Given the description of an element on the screen output the (x, y) to click on. 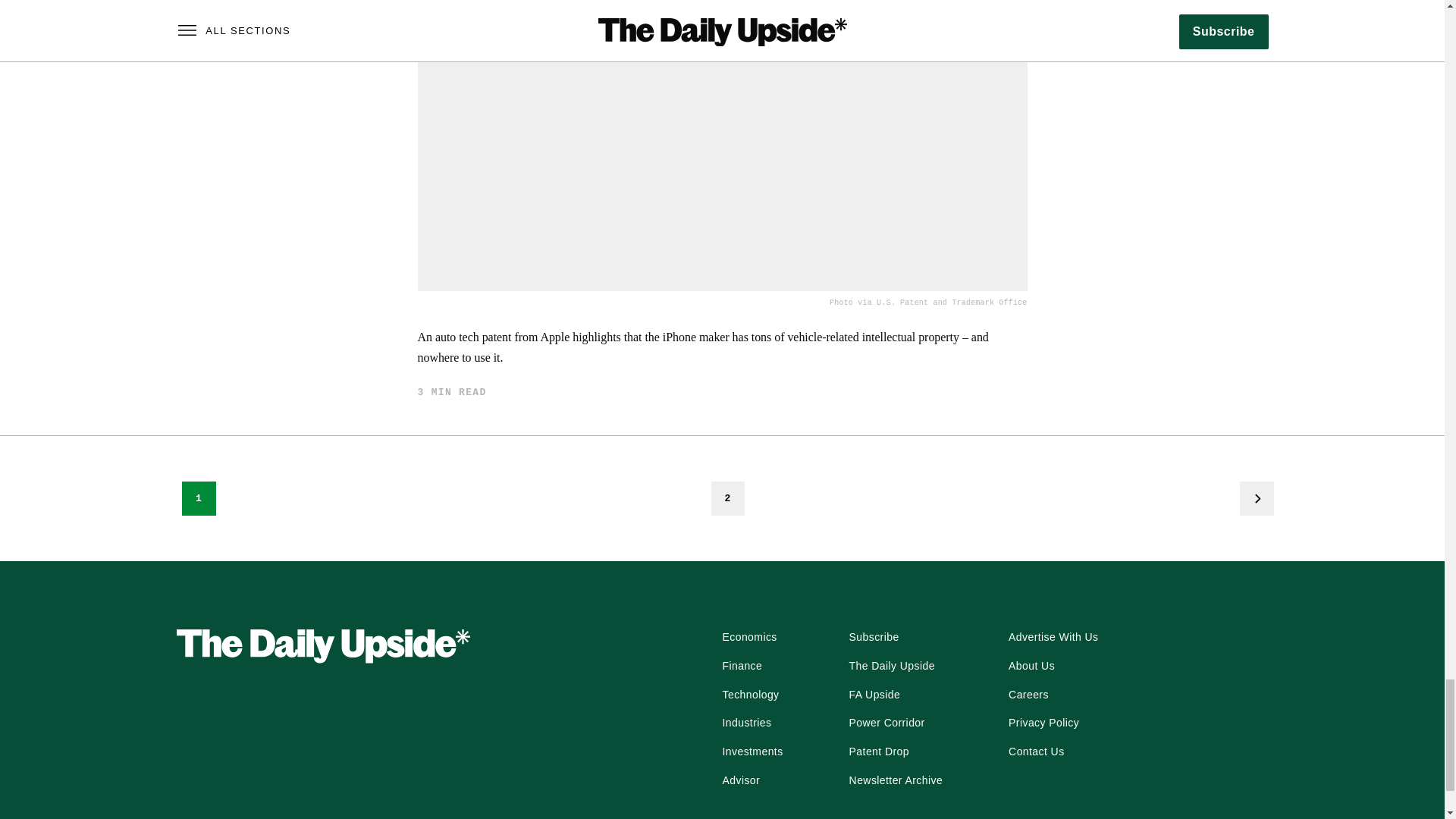
Economics Articles (749, 637)
Industry articles (746, 723)
Investment articles (752, 751)
Technology articles (750, 695)
Finance Articles (741, 666)
Advisor articles (741, 781)
